Given the description of an element on the screen output the (x, y) to click on. 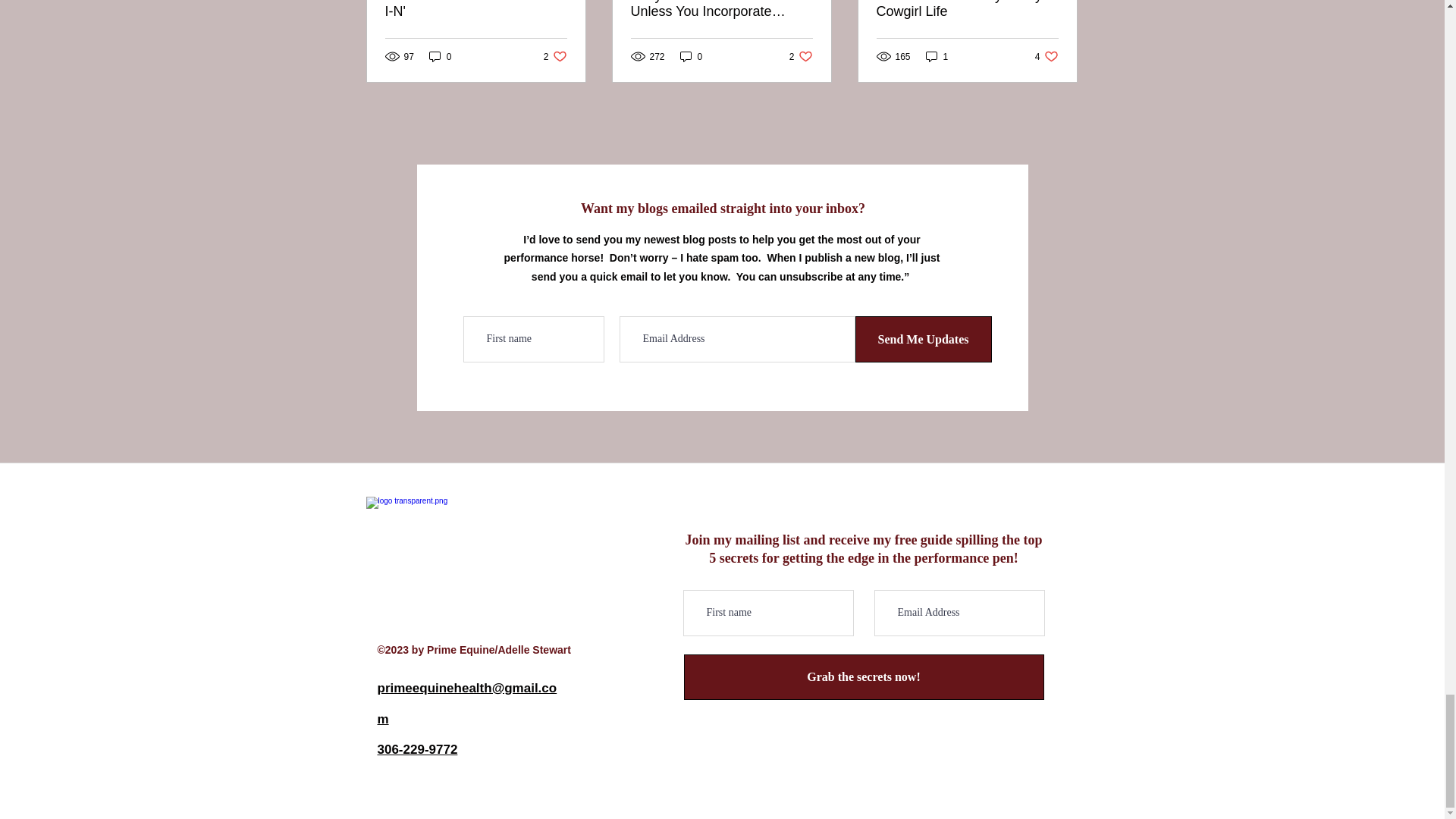
0 (691, 56)
Full Time Horse Trailer L-I-V-I-N' (476, 9)
0 (440, 56)
